Given the description of an element on the screen output the (x, y) to click on. 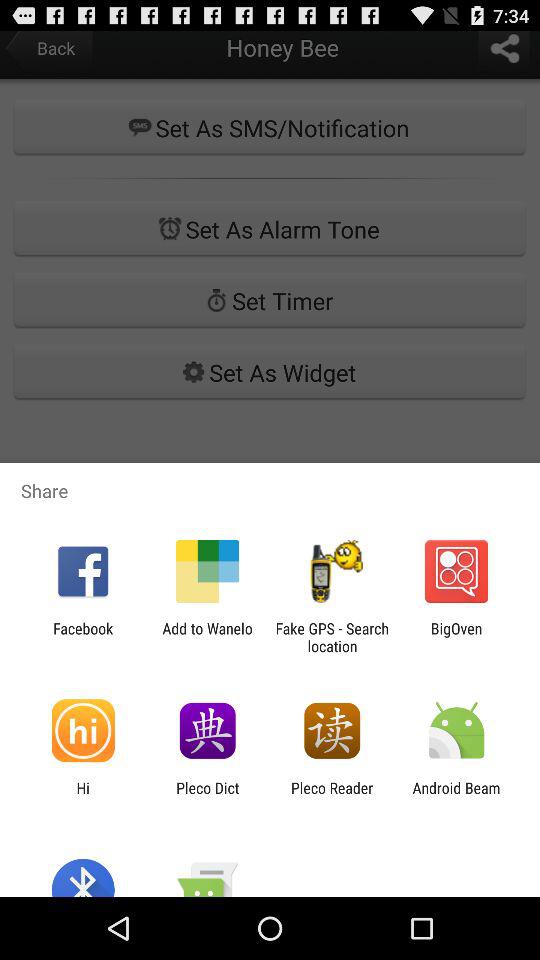
choose the app next to add to wanelo item (83, 637)
